Given the description of an element on the screen output the (x, y) to click on. 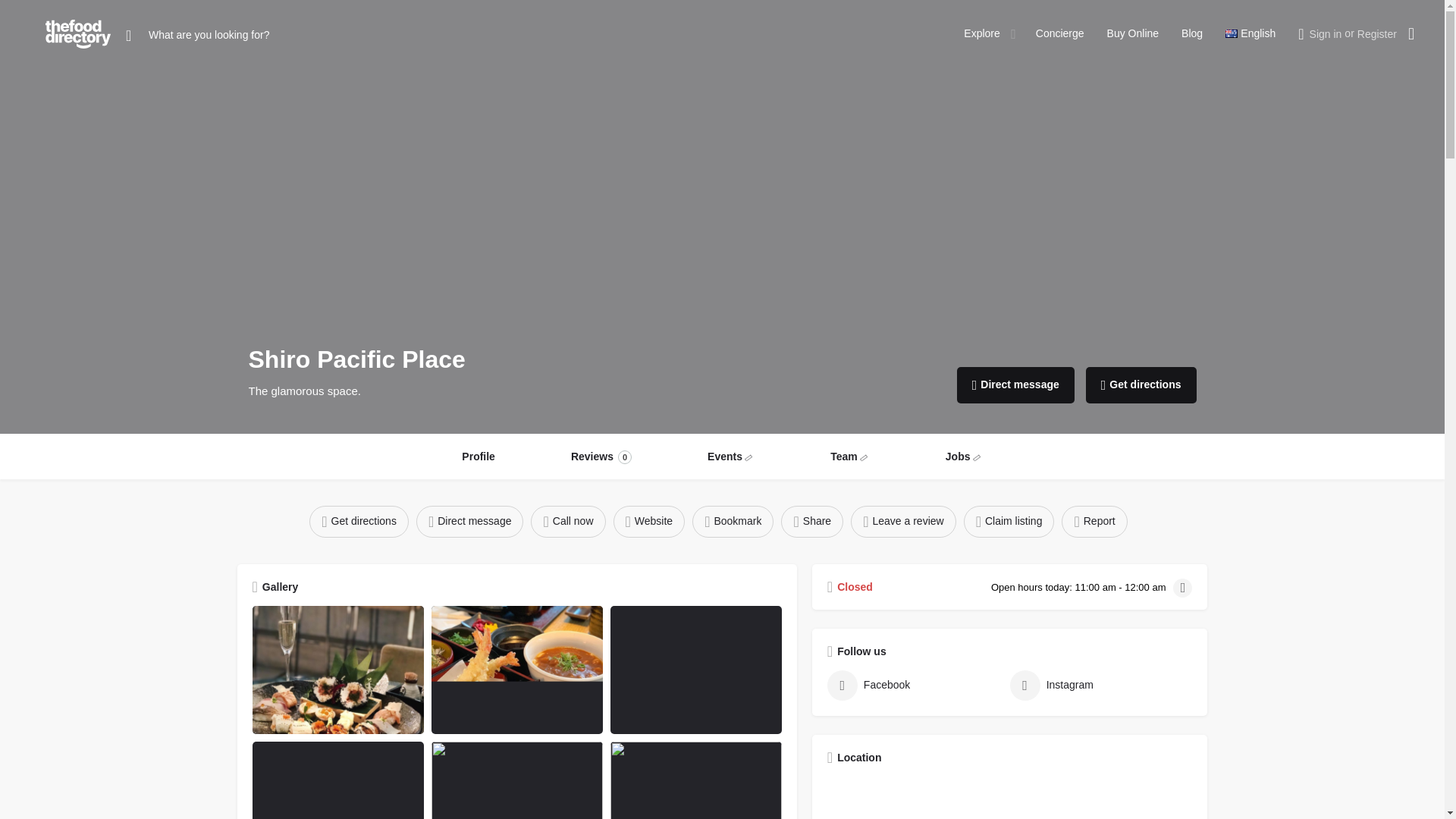
shiro7.png (695, 780)
shiro3.png (337, 669)
shiro.png (516, 669)
Get directions (358, 521)
Call now (568, 521)
shiro1.png (337, 780)
Explore (980, 32)
Sign in (1325, 33)
Leave a review (902, 521)
Register (1376, 33)
